Given the description of an element on the screen output the (x, y) to click on. 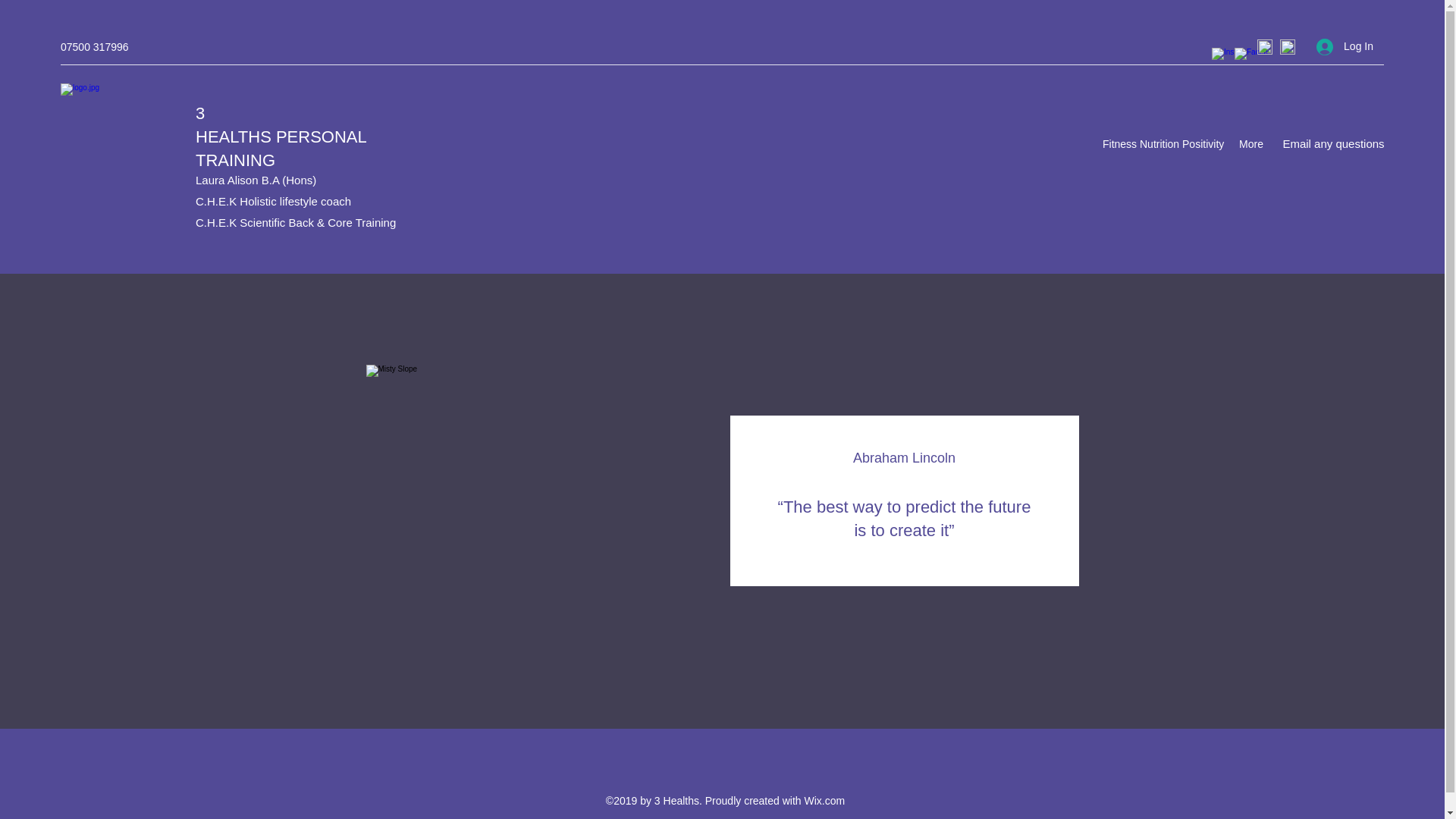
Email any questions Element type: text (1333, 144)
Log In Element type: text (1344, 46)
Fitness Nutrition Positivity Element type: text (1163, 143)
3 HEALTHS PERSONAL TRAINING Element type: text (280, 136)
